Given the description of an element on the screen output the (x, y) to click on. 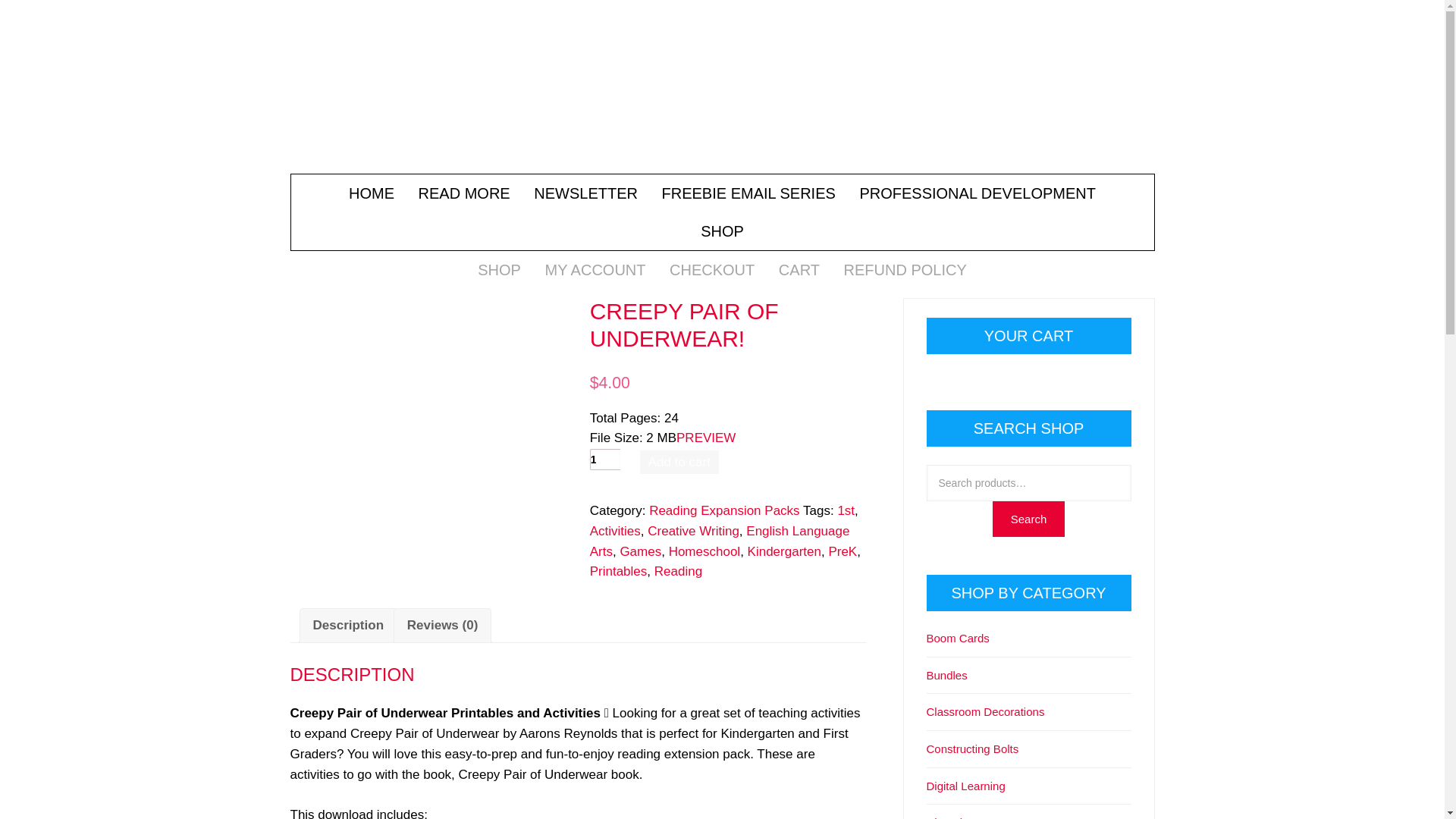
REFUND POLICY (905, 269)
SHOP (499, 269)
Reading Expansion Packs (724, 510)
NEWSLETTER (585, 193)
1st (845, 510)
Homeschool (704, 551)
Sharing Kindergarten (721, 100)
Kindergarten (784, 551)
CHECKOUT (711, 269)
READ MORE (464, 193)
Printables (618, 571)
HOME (371, 193)
Add to cart (679, 462)
MY ACCOUNT (595, 269)
PROFESSIONAL DEVELOPMENT (976, 193)
